Given the description of an element on the screen output the (x, y) to click on. 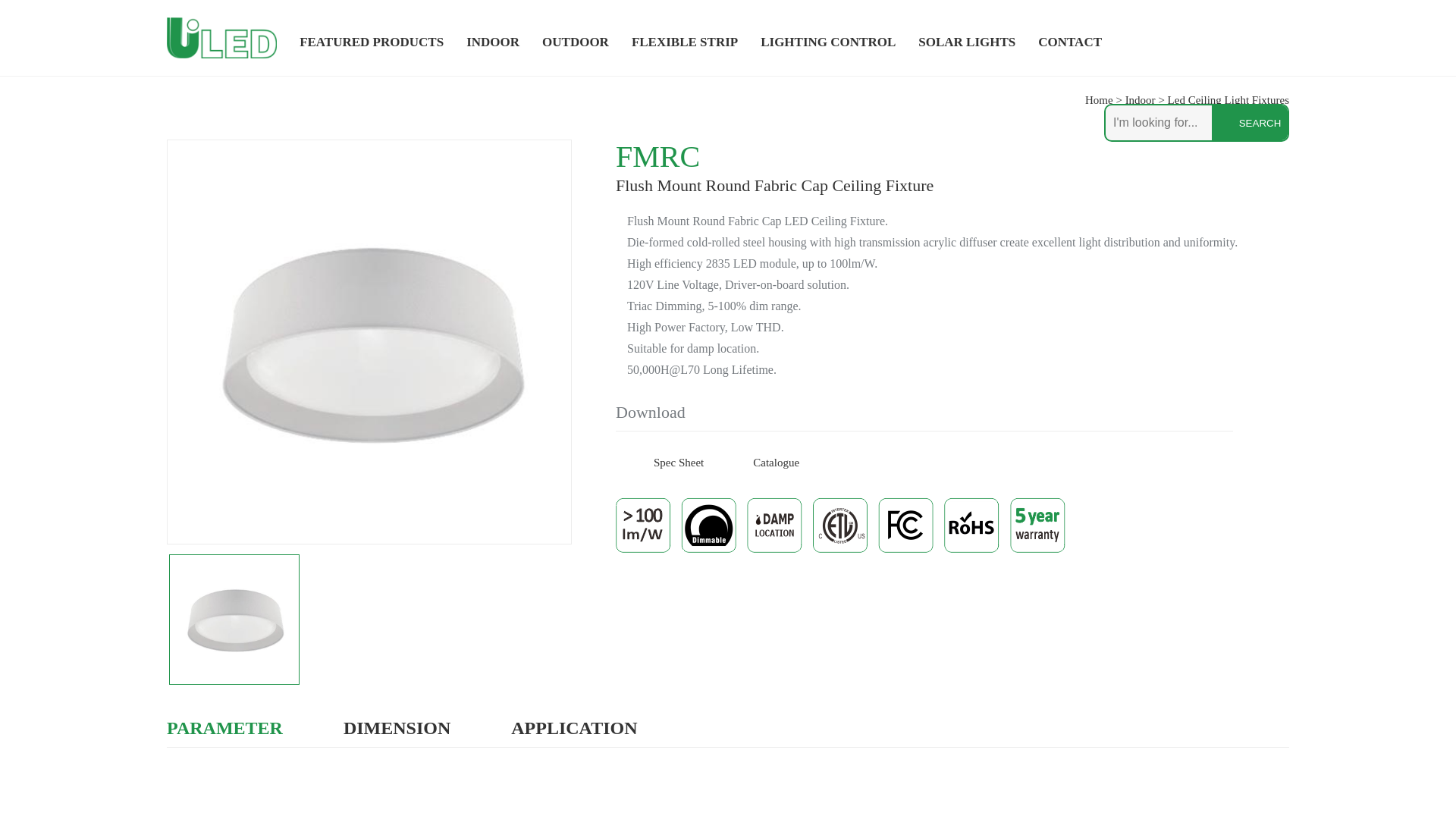
SEARCH (1249, 123)
FLEXIBLE STRIP (684, 42)
OUTDOOR (575, 42)
SEARCH (1249, 123)
INDOOR (492, 42)
FEATURED PRODUCTS (371, 42)
